Given the description of an element on the screen output the (x, y) to click on. 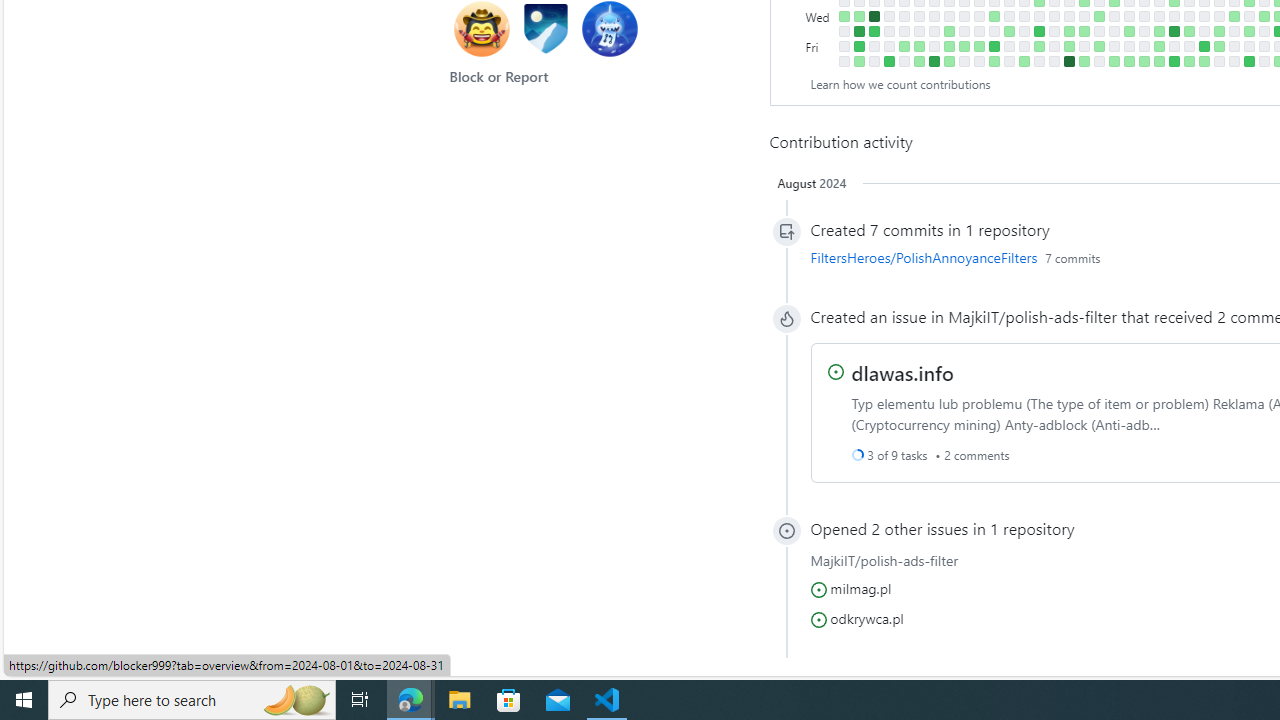
No contributions on July 4th. (1233, 30)
4 contributions on July 13th. (1248, 61)
No contributions on May 4th. (1098, 61)
No contributions on May 9th. (1114, 30)
No contributions on June 5th. (1173, 16)
1 contribution on May 11th. (1114, 61)
2 contributions on June 13th. (1188, 30)
No contributions on March 29th. (1023, 46)
No contributions on July 5th. (1233, 46)
2 contributions on February 24th. (948, 61)
odkrywca.pl (866, 617)
No contributions on April 6th. (1038, 61)
No contributions on April 26th. (1083, 46)
No contributions on February 29th. (963, 30)
